Given the description of an element on the screen output the (x, y) to click on. 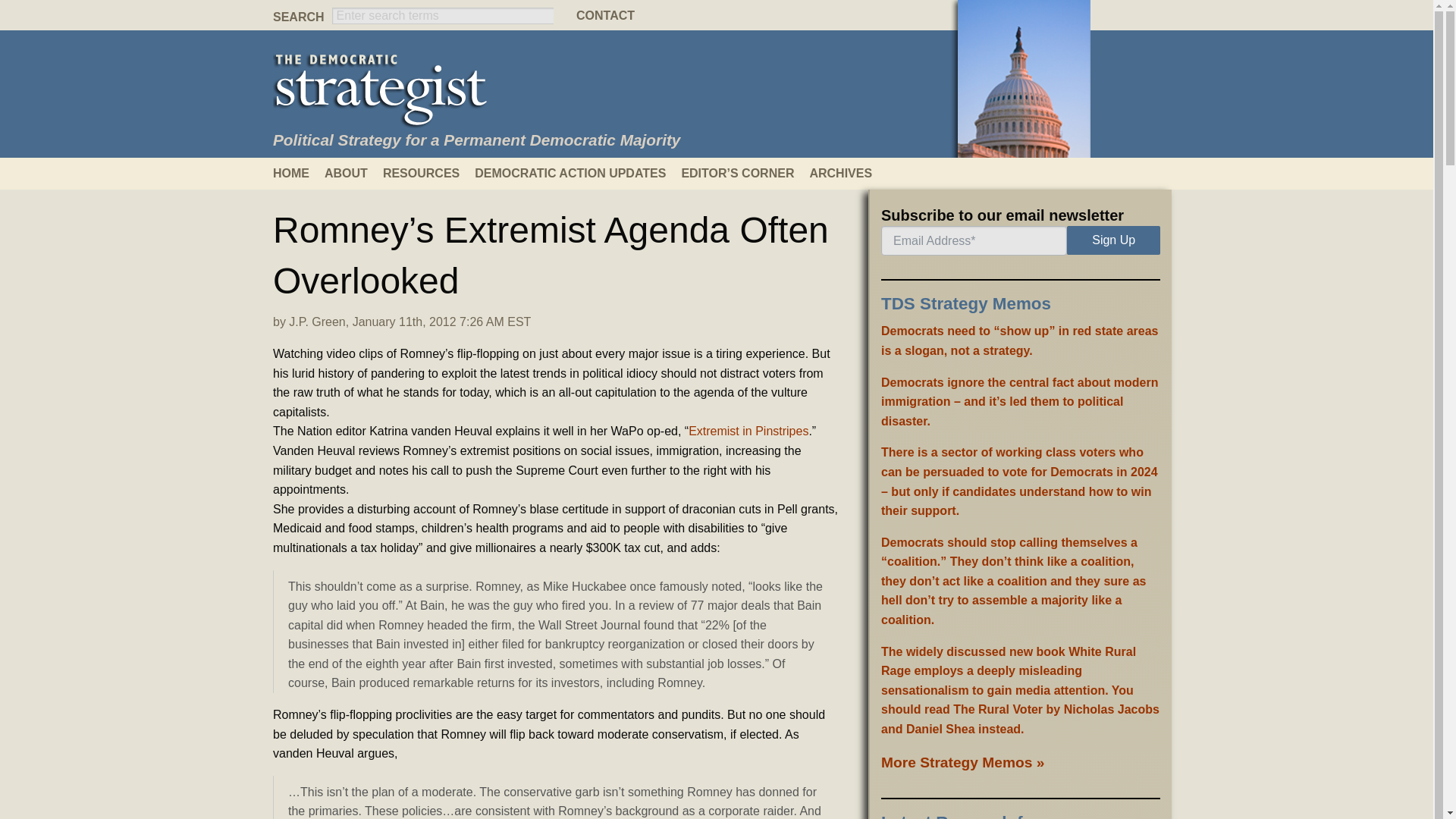
Extremist in Pinstripes (748, 431)
HOME (298, 173)
Home (298, 173)
Archives (847, 173)
RESOURCES (428, 173)
ARCHIVES (847, 173)
CONTACT (716, 15)
DEMOCRATIC ACTION UPDATES (577, 173)
ABOUT (353, 173)
Democratic Action Updates (577, 173)
Resources (428, 173)
CONTACT  (716, 15)
About (353, 173)
Posts by J.P. Green (316, 321)
